Given the description of an element on the screen output the (x, y) to click on. 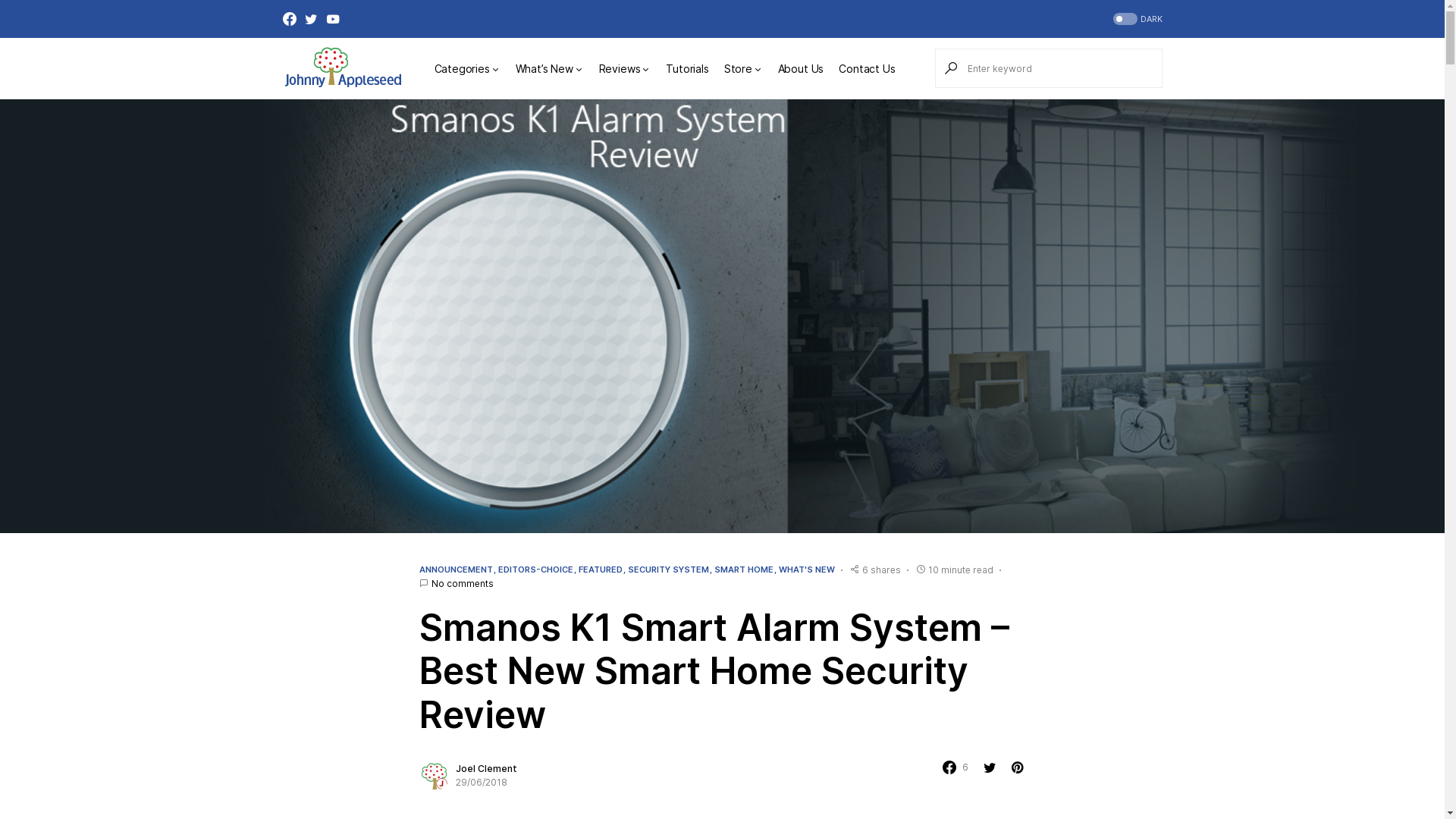
Joel Clement Element type: text (485, 768)
No comments Element type: text (461, 582)
Categories Element type: text (466, 67)
About Us Element type: text (801, 67)
Tutorials Element type: text (686, 67)
SMART HOME Element type: text (743, 569)
Store Element type: text (743, 67)
WHAT'S NEW Element type: text (806, 569)
FEATURED Element type: text (599, 569)
Reviews Element type: text (625, 67)
SECURITY SYSTEM Element type: text (668, 569)
EDITORS-CHOICE Element type: text (534, 569)
Contact Us Element type: text (866, 67)
6 Element type: text (954, 767)
ANNOUNCEMENT Element type: text (455, 569)
